Given the description of an element on the screen output the (x, y) to click on. 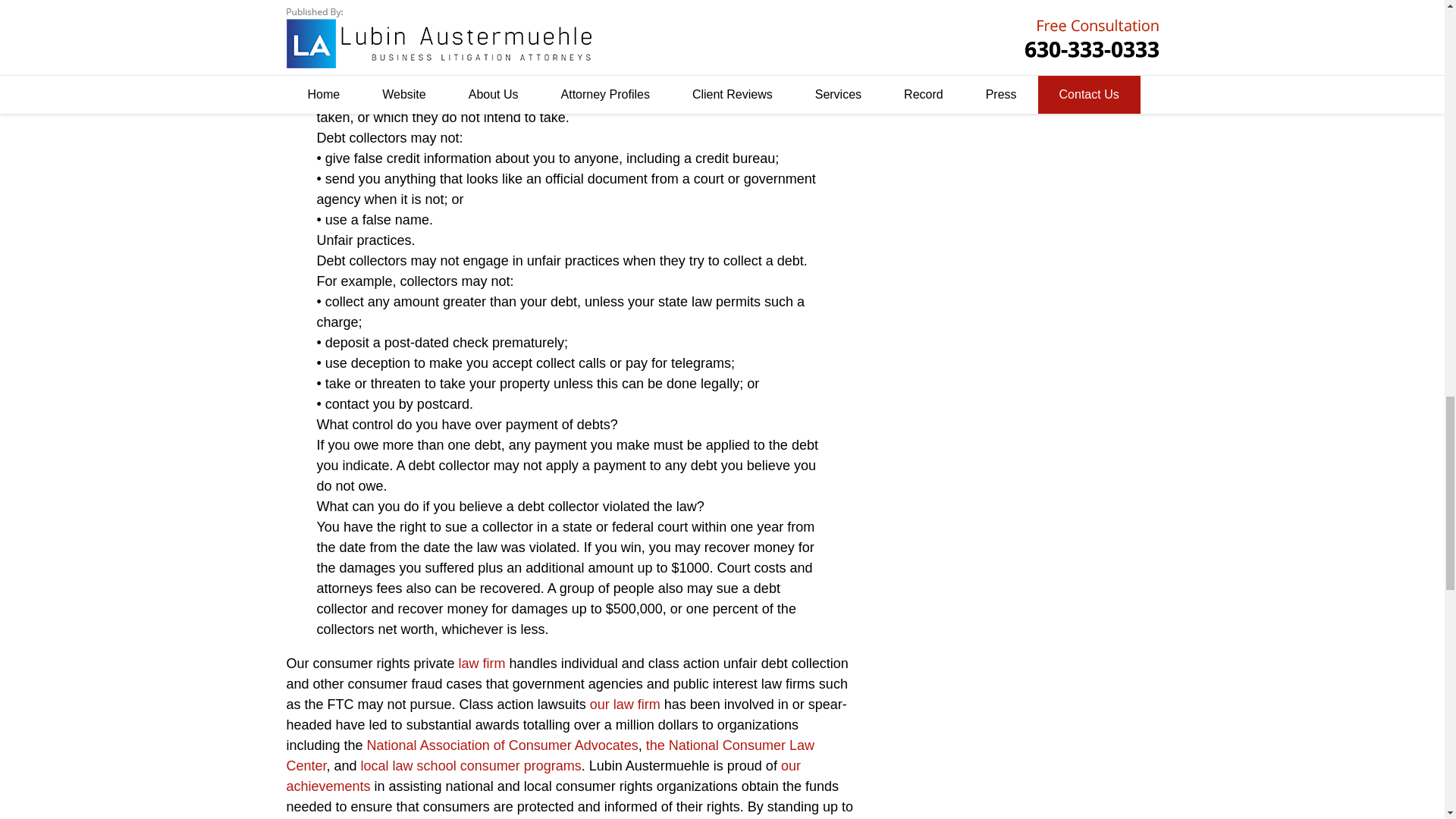
the National Consumer Law Center (549, 755)
local law school consumer programs (470, 765)
our law firm (625, 703)
our achievements (543, 775)
law firm (481, 663)
National Association of Consumer Advocates (502, 744)
